Given the description of an element on the screen output the (x, y) to click on. 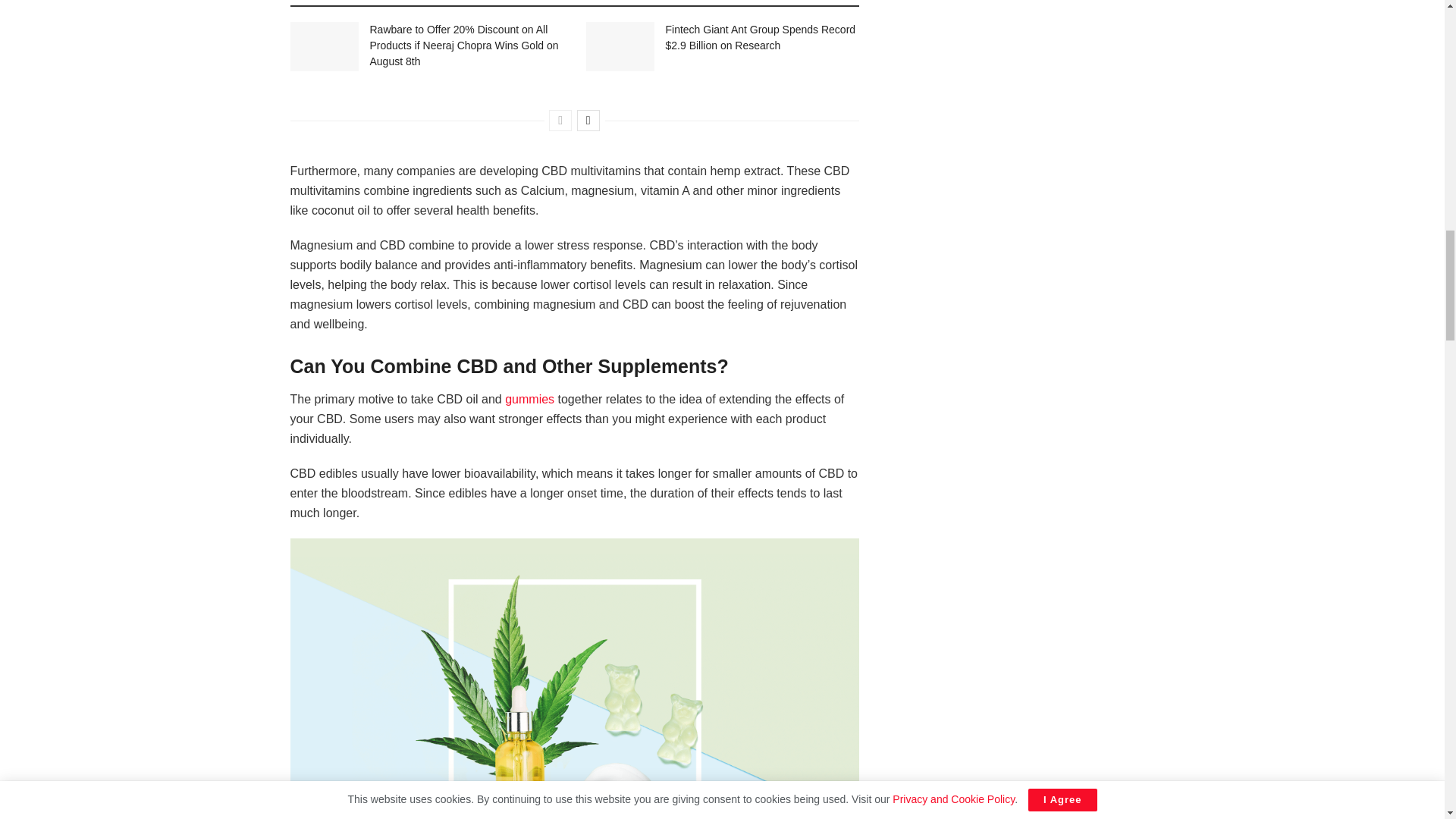
Next (587, 120)
Previous (560, 120)
